Given the description of an element on the screen output the (x, y) to click on. 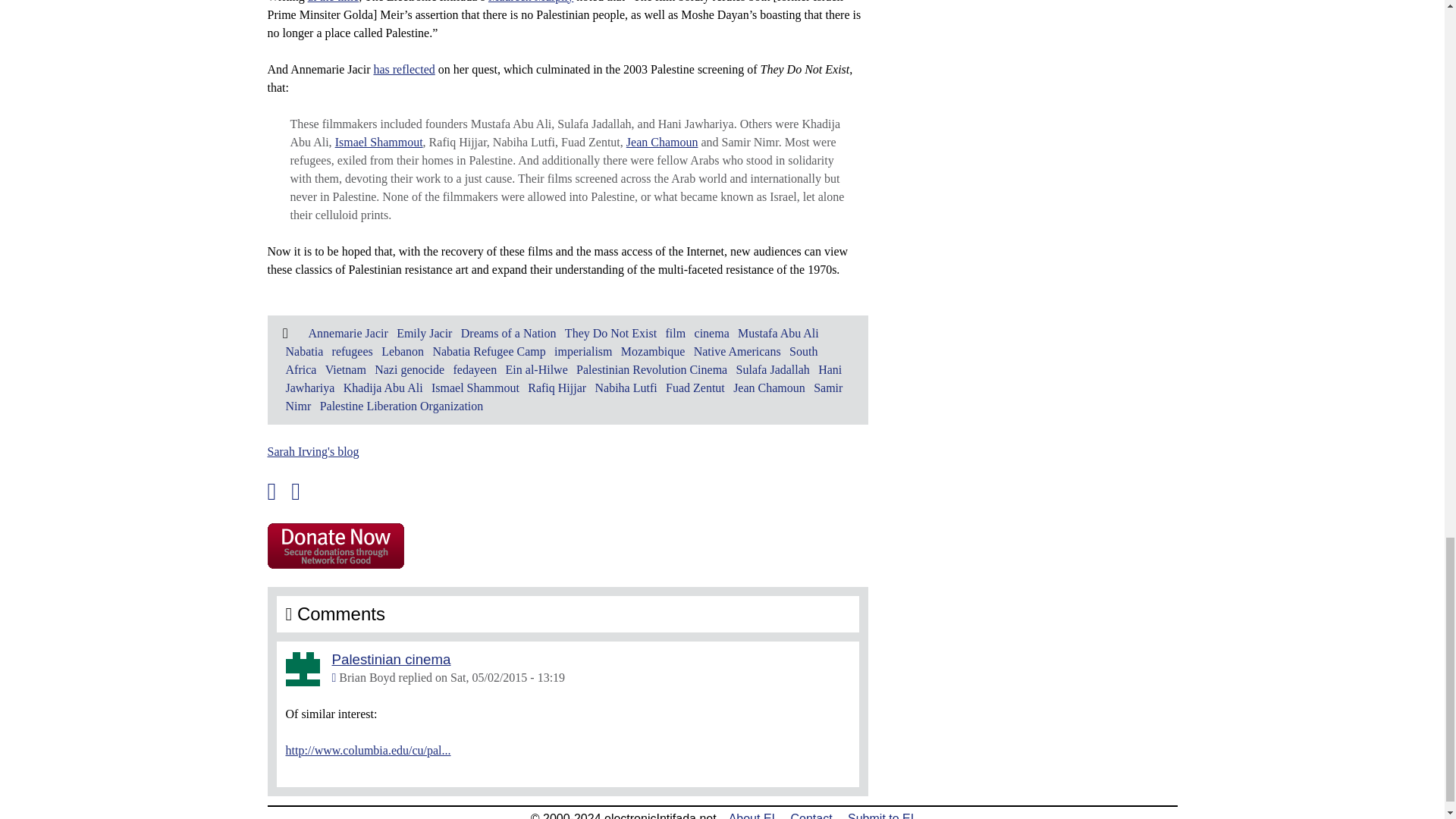
Dreams of a Nation (508, 332)
refugees (351, 350)
imperialism (582, 350)
Maureen Murphy (530, 1)
Nabatia Refugee Camp (488, 350)
has reflected (402, 69)
They Do Not Exist (610, 332)
Ismael Shammout (378, 141)
South Africa (550, 359)
Jean Chamoun (662, 141)
cinema (711, 332)
Mustafa Abu Ali (778, 332)
Mozambique (652, 350)
Lebanon (402, 350)
film (675, 332)
